Given the description of an element on the screen output the (x, y) to click on. 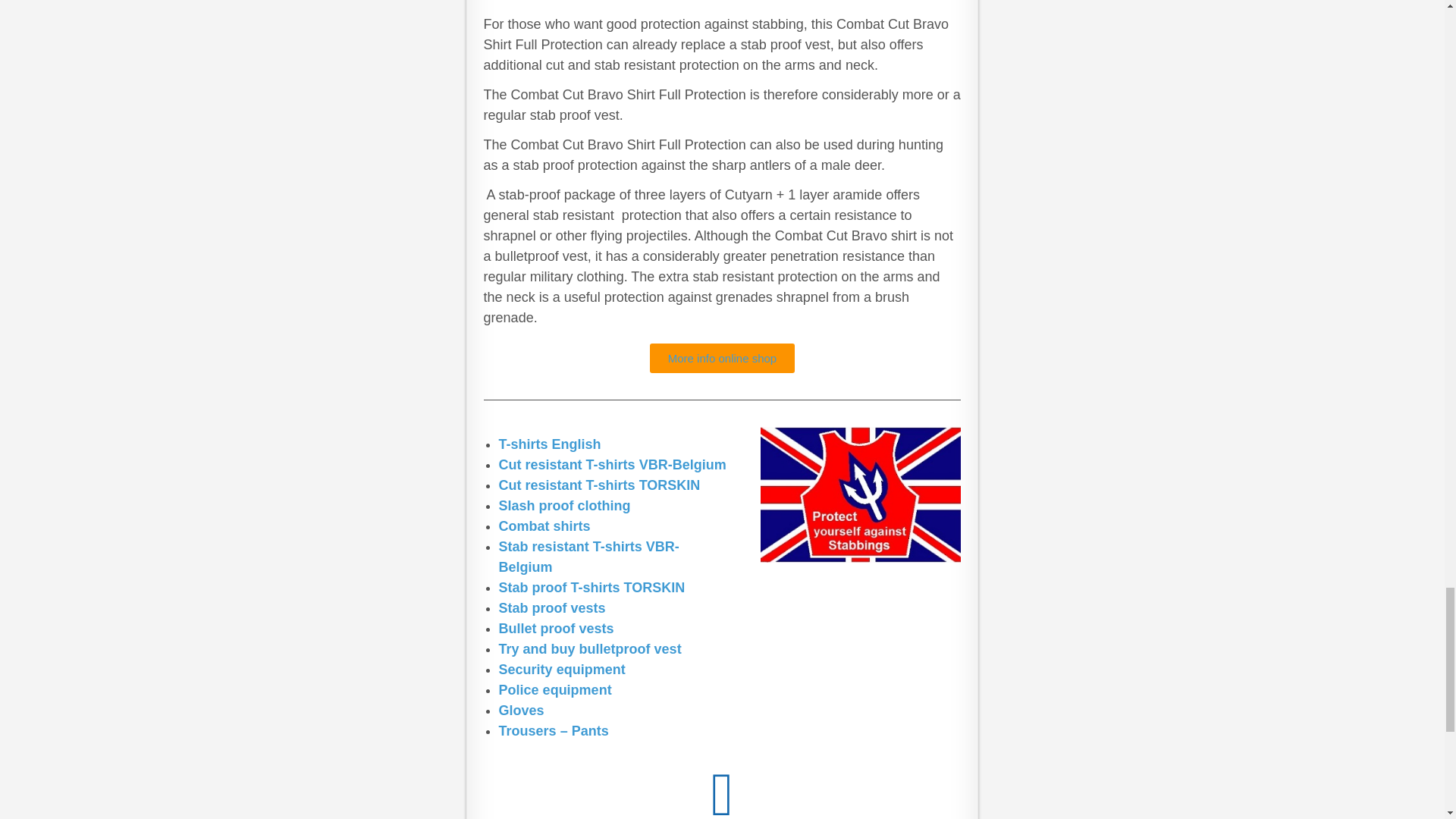
Stab resistant T-shirts VBR-Belgium (589, 556)
T-shirts English (550, 444)
Bullet proof vests (556, 628)
Combat shirts (545, 525)
Slash proof clothing (564, 505)
More info online shop (721, 358)
Stab proof vests (552, 607)
Cut resistant T-shirts TORSKIN (599, 485)
Stab proof T-shirts TORSKIN (592, 587)
Cut resistant T-shirts VBR-Belgium (612, 464)
